Given the description of an element on the screen output the (x, y) to click on. 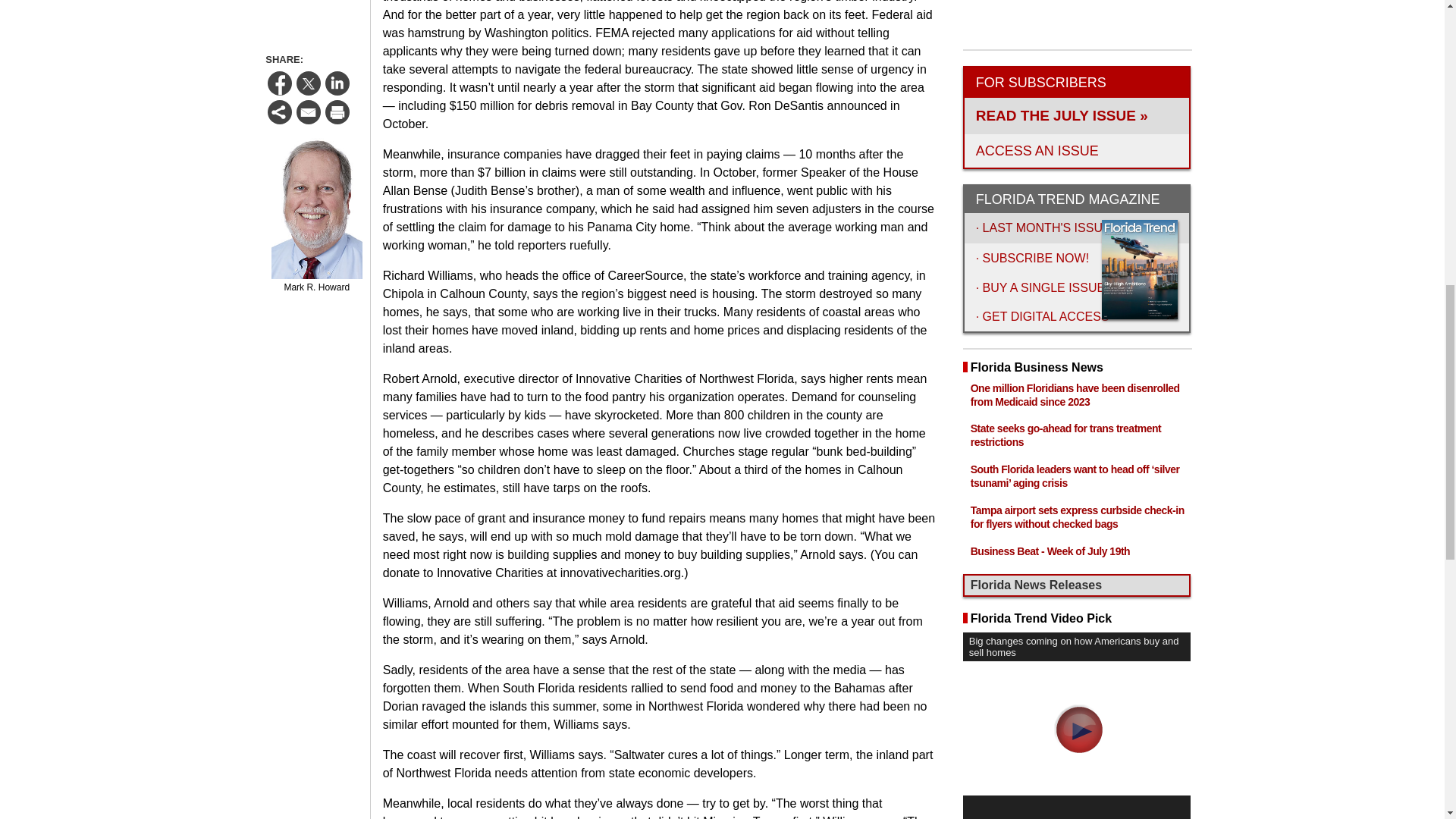
4070 (968, 367)
4066 (968, 284)
4068 (968, 326)
4069 (968, 347)
4067 (968, 306)
